Given the description of an element on the screen output the (x, y) to click on. 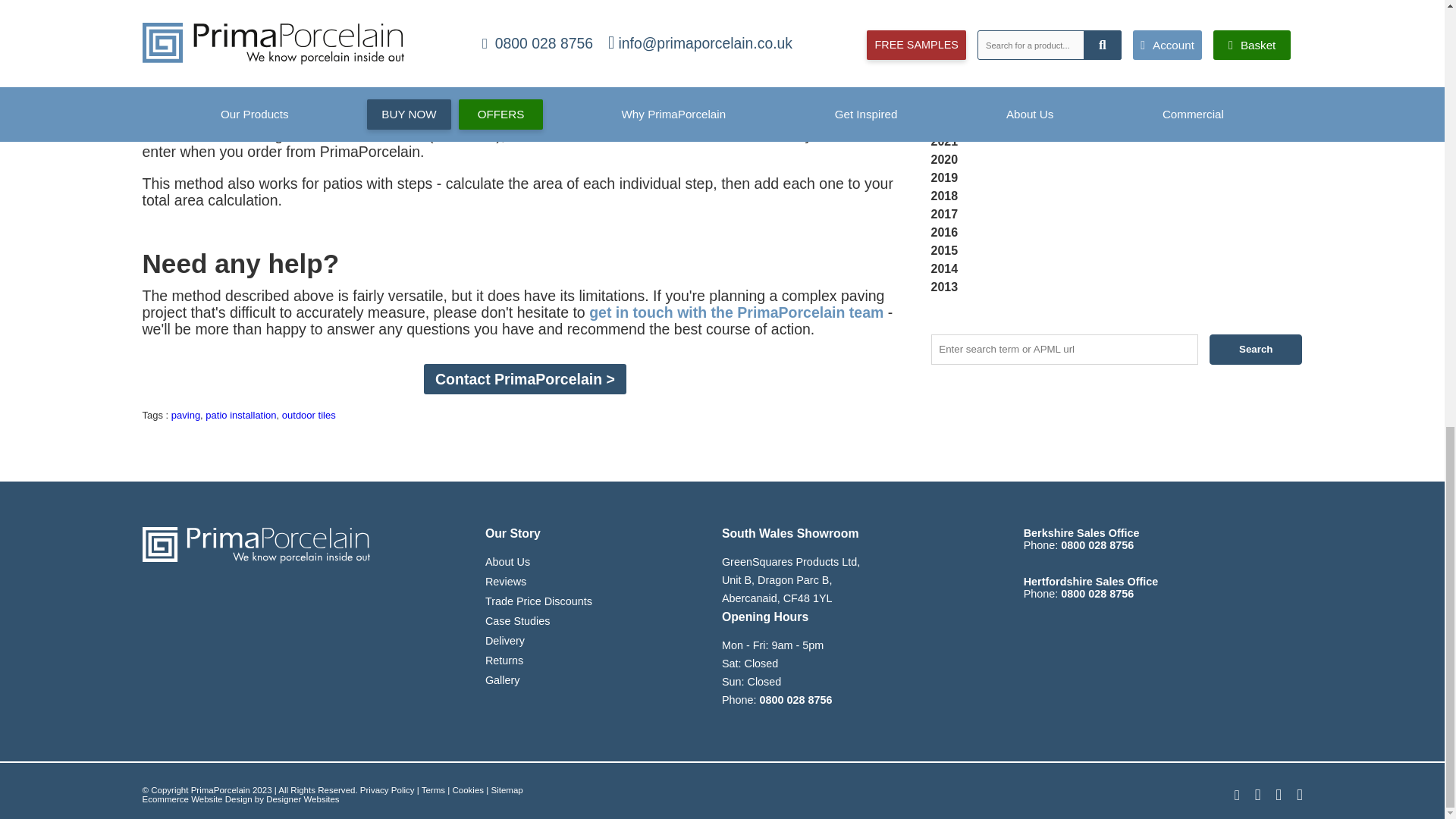
Enter search term or APML url (1064, 349)
Search (1255, 349)
